Given the description of an element on the screen output the (x, y) to click on. 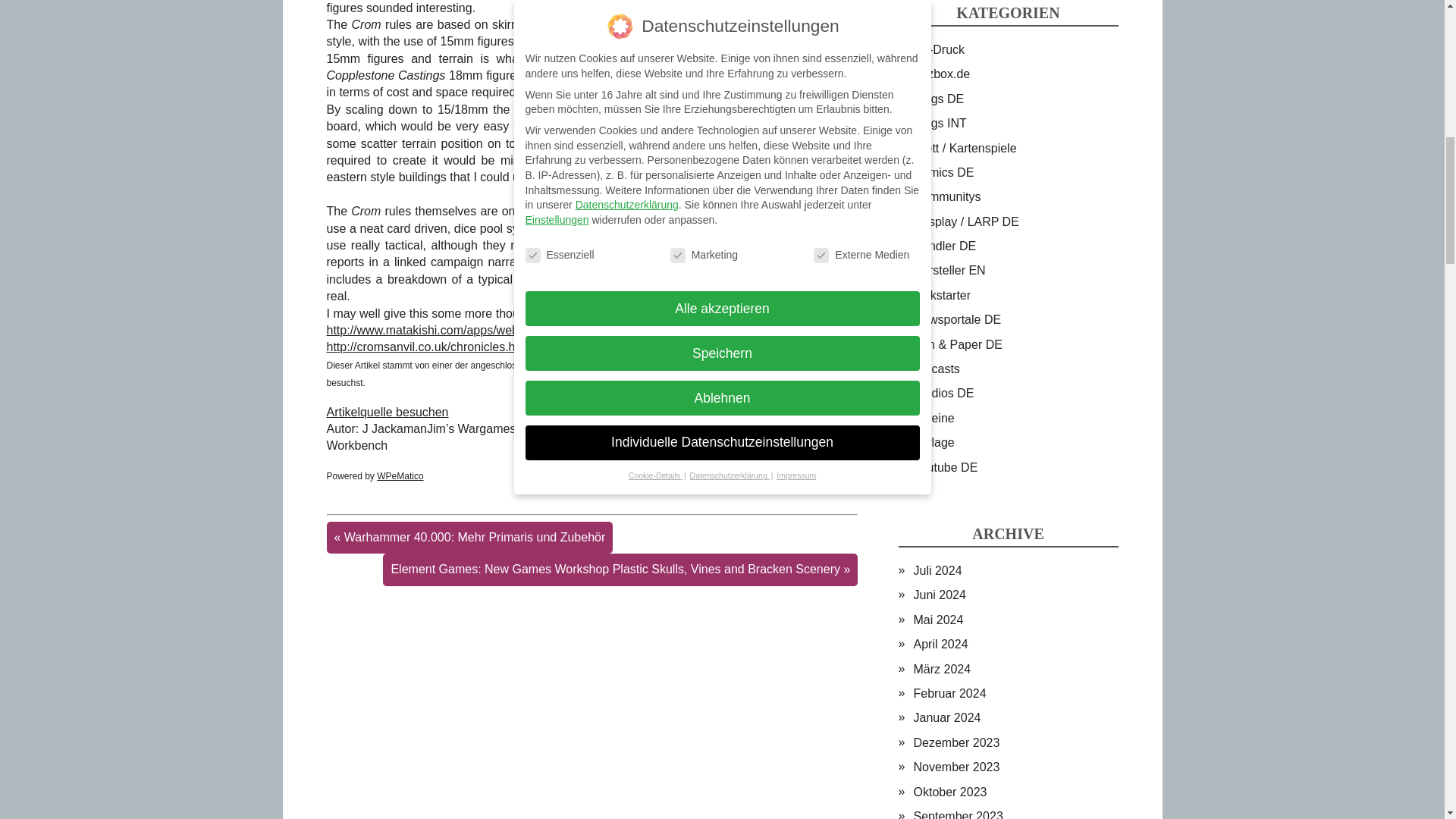
Bitzbox.de (940, 73)
WPeMatico (400, 475)
Blogs INT (939, 123)
Comics DE (943, 172)
Blogs DE (937, 98)
Communitys (945, 196)
Artikelquelle besuchen (387, 411)
3D-Druck (937, 49)
